Given the description of an element on the screen output the (x, y) to click on. 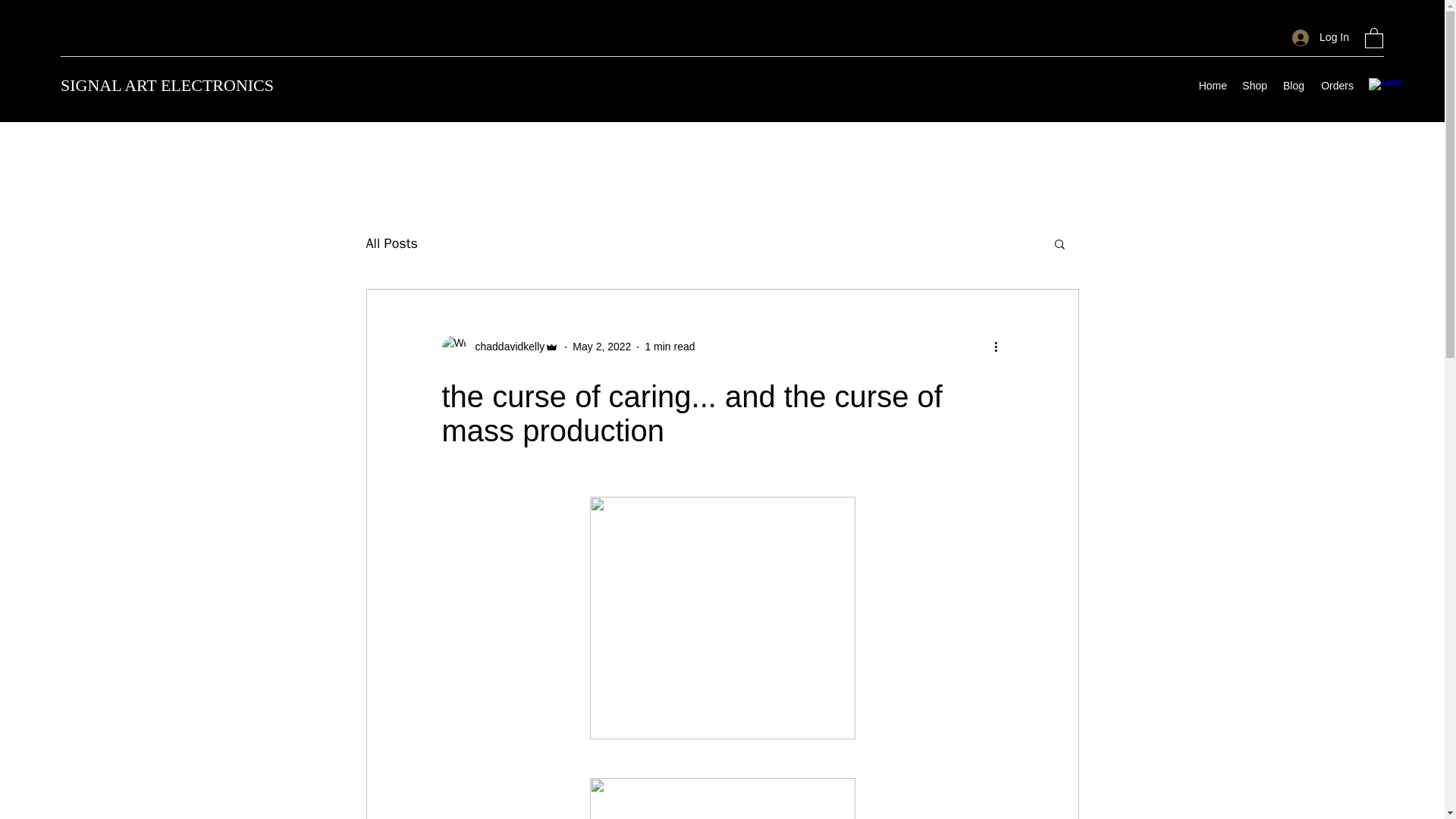
Log In (1320, 37)
1 min read (669, 346)
All Posts (390, 243)
Shop (1254, 85)
SIGNAL ART ELECTRONICS (167, 85)
May 2, 2022 (601, 346)
Home (1212, 85)
Blog (1293, 85)
Orders (1336, 85)
chaddavidkelly (500, 346)
chaddavidkelly (504, 346)
